Given the description of an element on the screen output the (x, y) to click on. 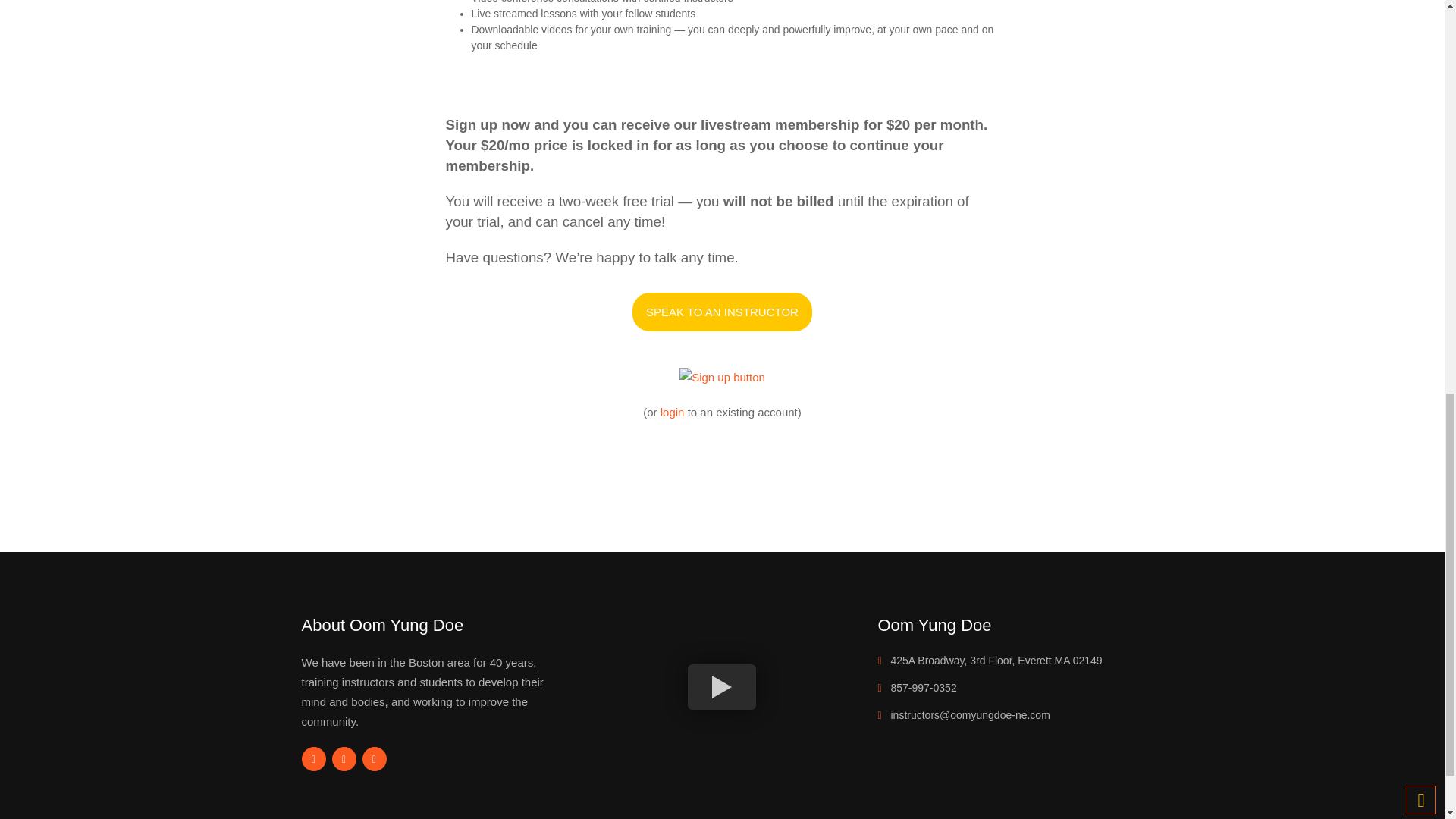
857-997-0352 (922, 687)
SPEAK TO AN INSTRUCTOR (721, 311)
login (672, 411)
